Given the description of an element on the screen output the (x, y) to click on. 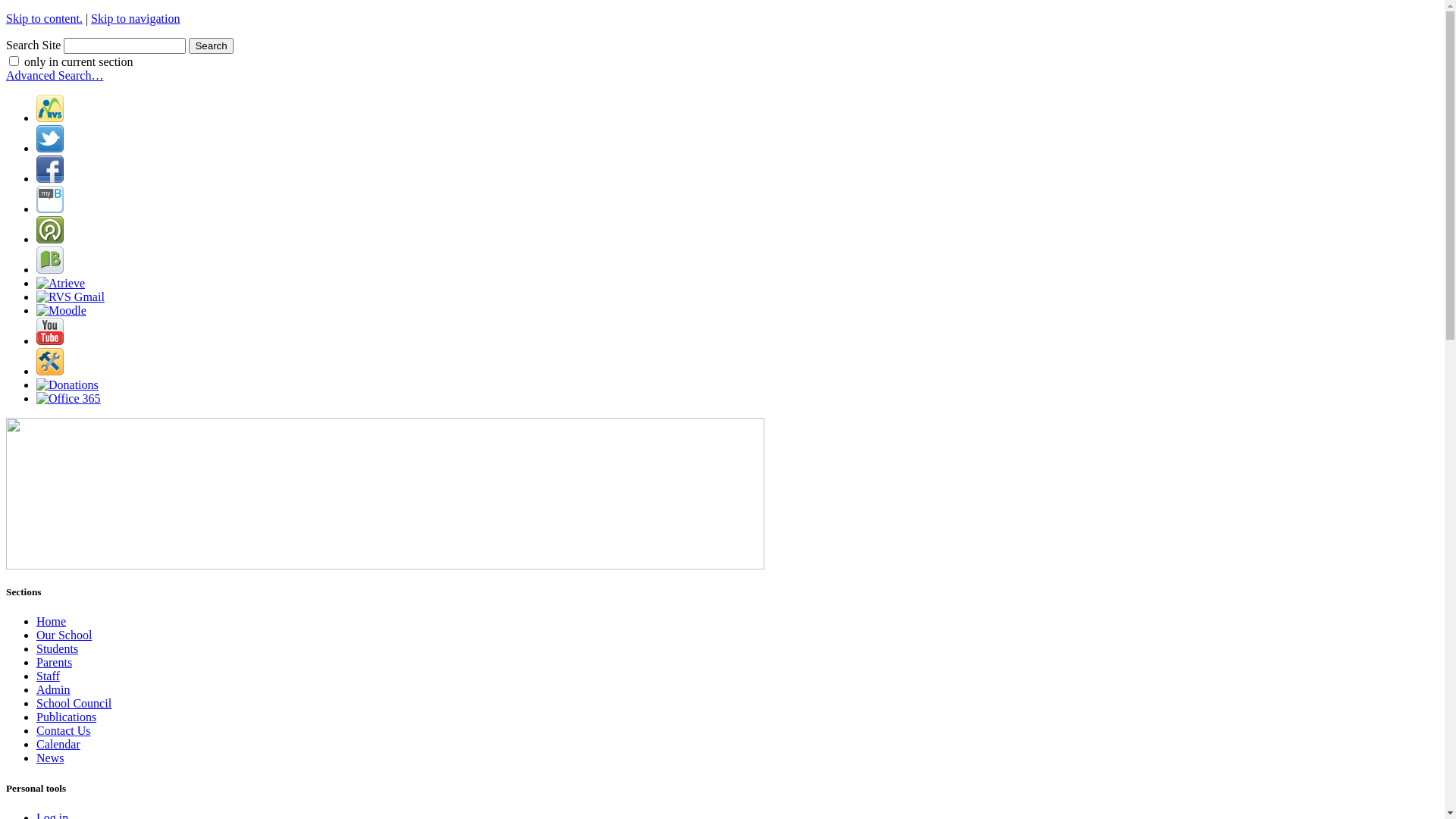
Admin Element type: text (52, 689)
Search Site Element type: hover (124, 45)
Office 365 Element type: hover (68, 398)
Skip to navigation Element type: text (135, 18)
Rocky View Corporate Site Element type: hover (49, 117)
Publications Element type: text (66, 716)
Calendar Element type: text (58, 743)
Contact Us Element type: text (63, 730)
RVS Gmail Element type: hover (70, 296)
School Council Element type: text (73, 702)
YouTube Element type: hover (49, 340)
Parents Element type: text (54, 661)
Tech Support Element type: hover (49, 370)
Moodle Element type: hover (61, 310)
Facebook Element type: hover (49, 178)
Students Element type: text (57, 648)
News Element type: text (49, 757)
Bibliovation Element type: hover (49, 269)
Search Element type: text (210, 45)
Donations Element type: hover (67, 384)
Twitter Element type: hover (49, 147)
Atrieve Element type: hover (60, 282)
Staff Element type: text (47, 675)
Our School Element type: text (63, 634)
Skip to content. Element type: text (44, 18)
Home Element type: text (50, 621)
My Blueprint Element type: hover (49, 208)
Power School Element type: hover (49, 238)
